Given the description of an element on the screen output the (x, y) to click on. 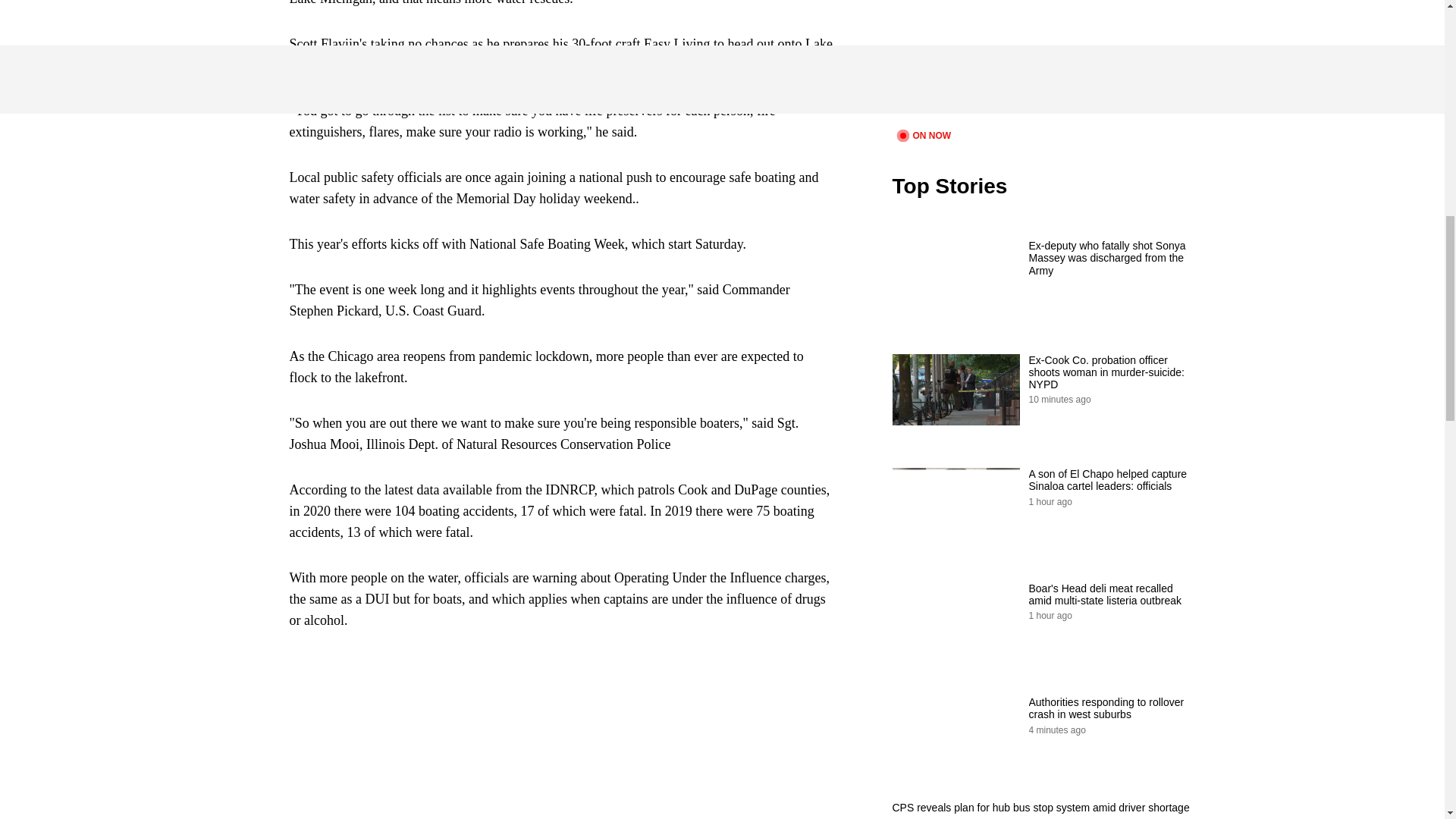
video.title (1043, 62)
